Given the description of an element on the screen output the (x, y) to click on. 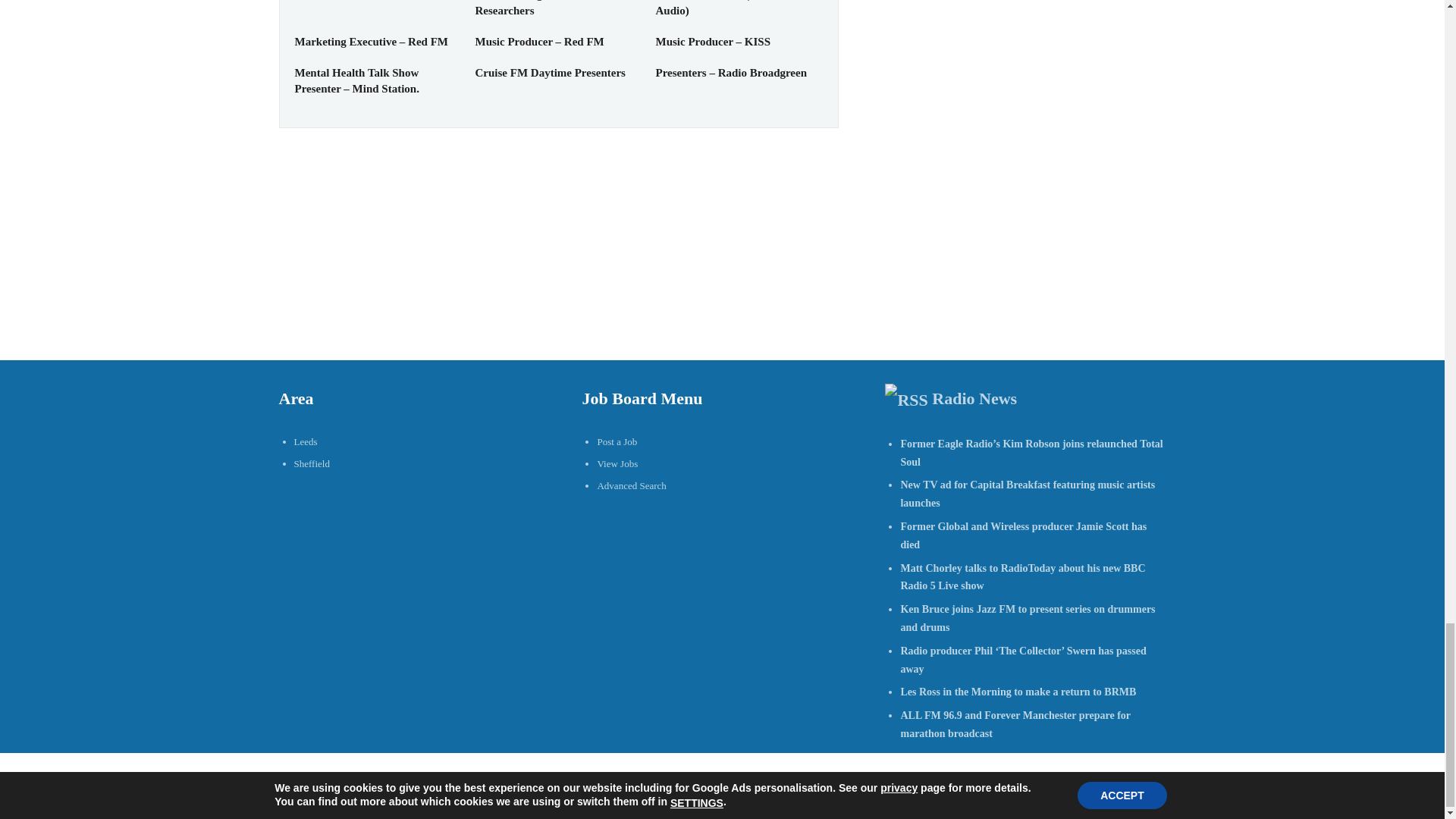
News Editor (324, 0)
Cruise FM Daytime Presenters (549, 72)
News Editor (324, 0)
